Given the description of an element on the screen output the (x, y) to click on. 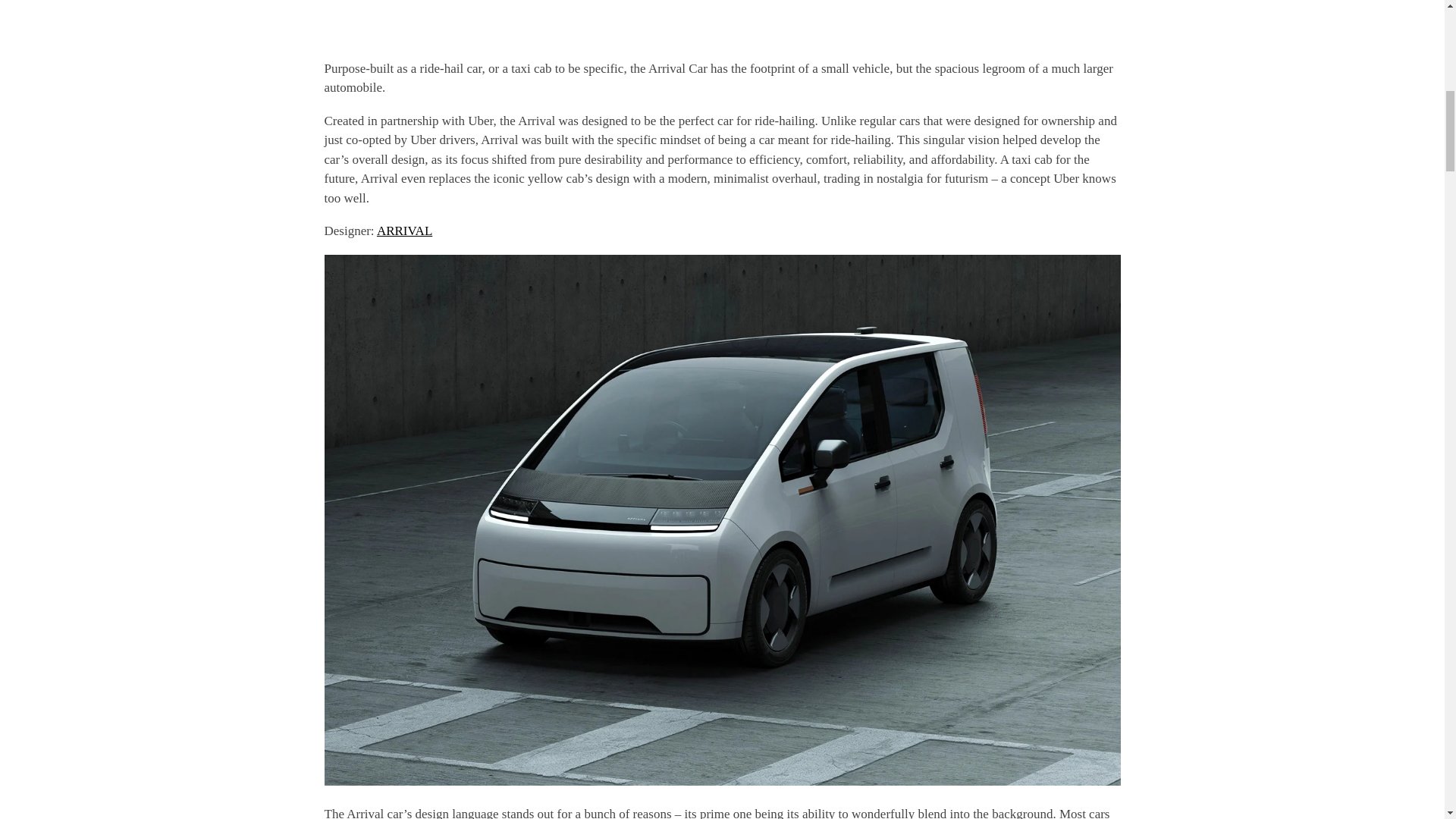
A first look at the Arrival Car prototype (722, 19)
